Given the description of an element on the screen output the (x, y) to click on. 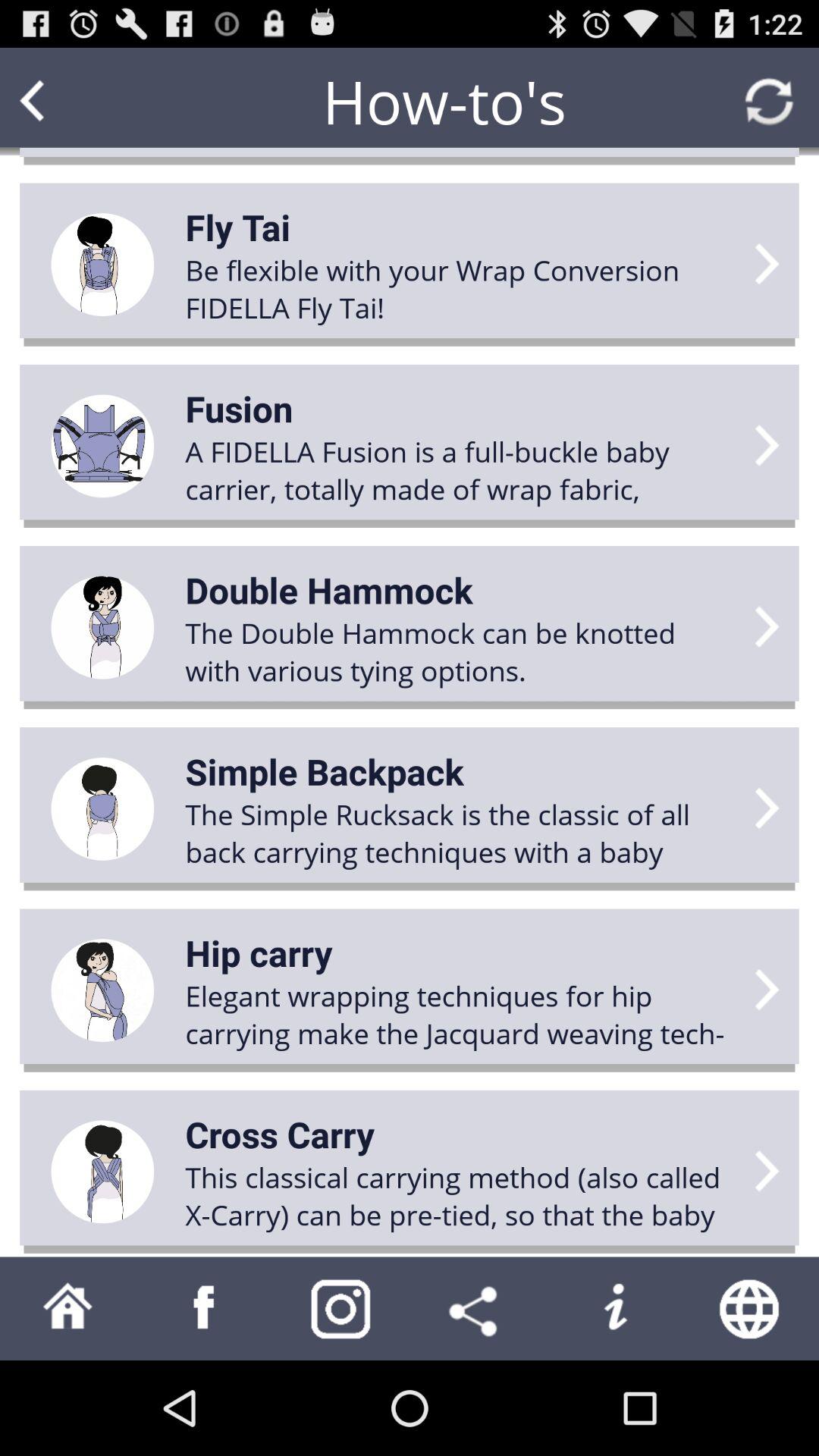
go back button (61, 101)
